Given the description of an element on the screen output the (x, y) to click on. 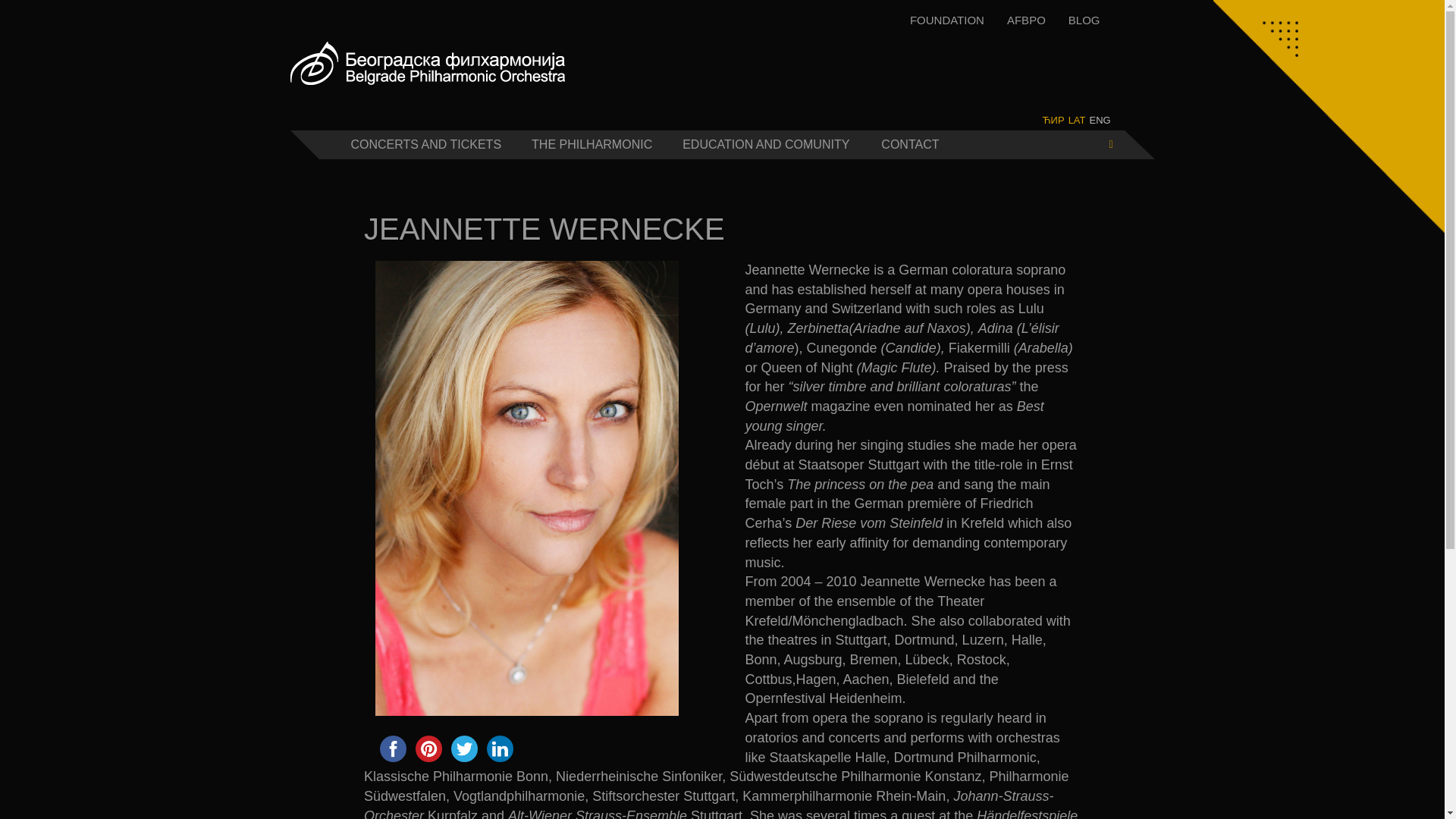
THE PHILHARMONIC (591, 144)
CONCERTS AND TICKETS (425, 144)
BLOG (1084, 19)
LAT (1077, 119)
ENG (1099, 119)
FOUNDATION (947, 19)
Concerts and Tickets (425, 144)
